Given the description of an element on the screen output the (x, y) to click on. 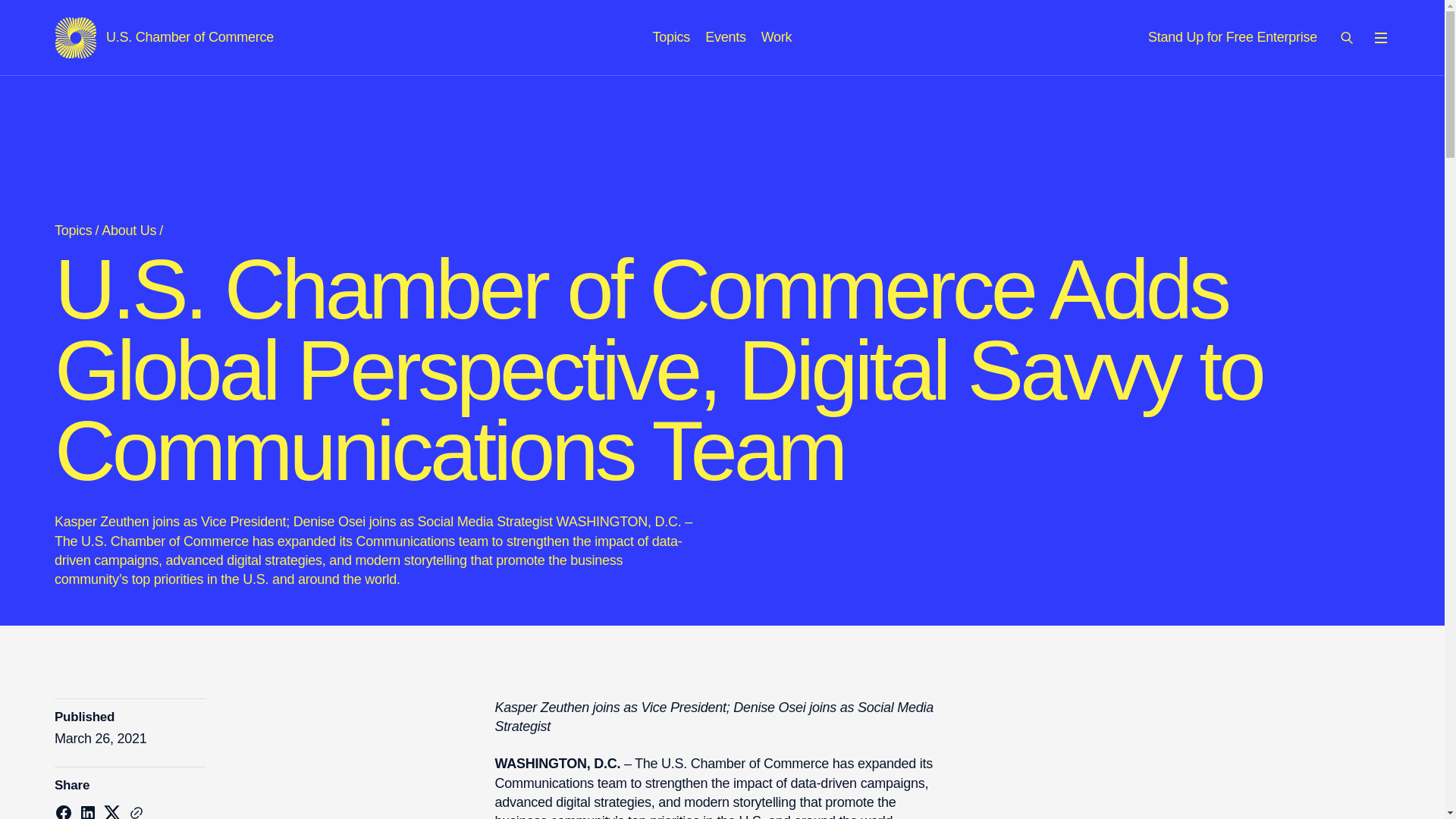
Menu (1380, 37)
Stand Up for Free Enterprise (164, 37)
Topics (1232, 37)
Work (671, 36)
Events (776, 36)
Site Search (724, 36)
